Given the description of an element on the screen output the (x, y) to click on. 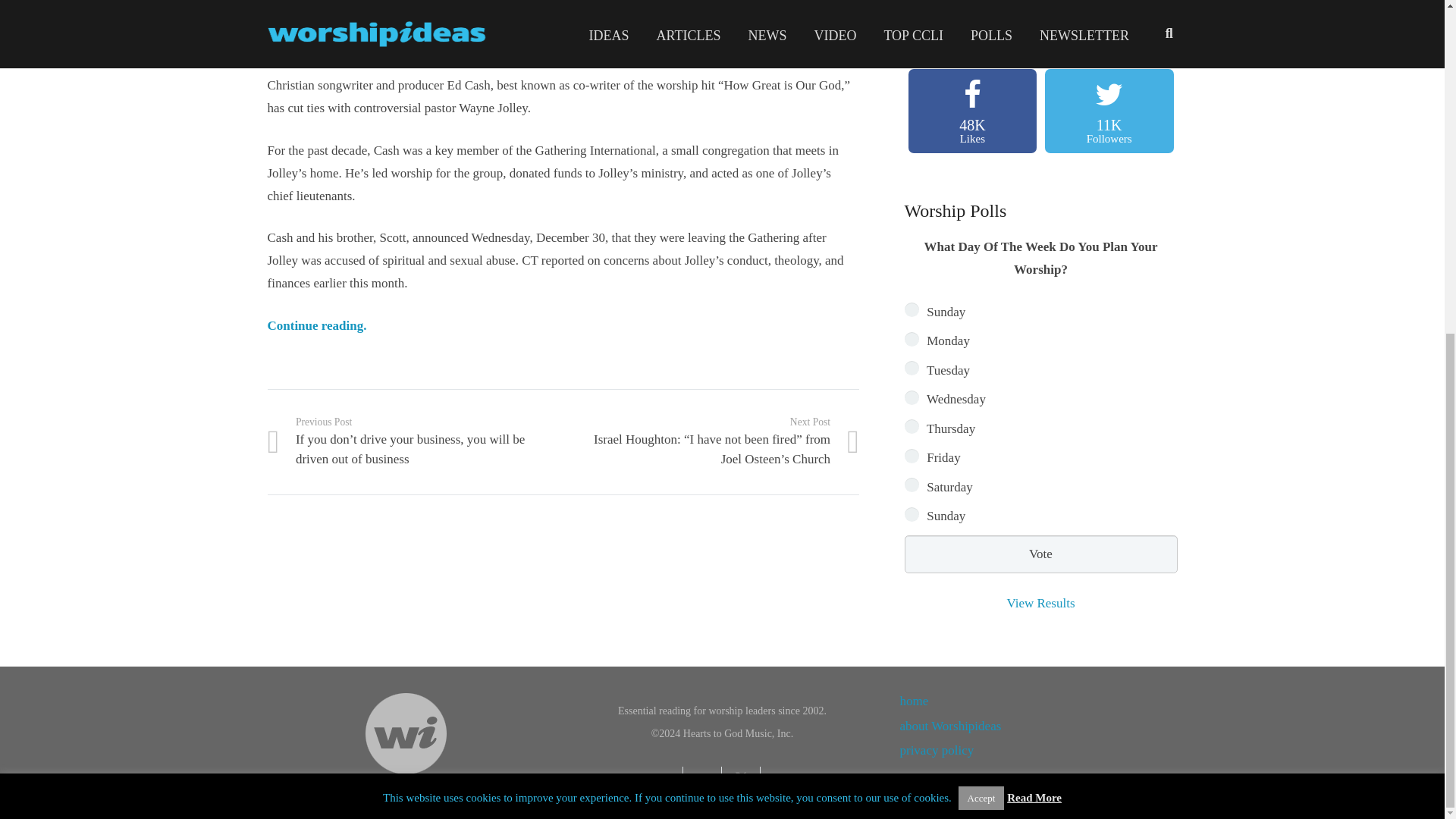
View Results Of This Poll (1040, 603)
Tweet this (741, 779)
Continue reading. (316, 325)
View Results (1040, 603)
Email this (1109, 110)
about Worshipideas (663, 779)
206 (950, 726)
Share this (911, 484)
   Vote    (702, 779)
204 (1040, 554)
201 (911, 426)
200 (911, 339)
205 (911, 309)
Pin this (911, 455)
